Given the description of an element on the screen output the (x, y) to click on. 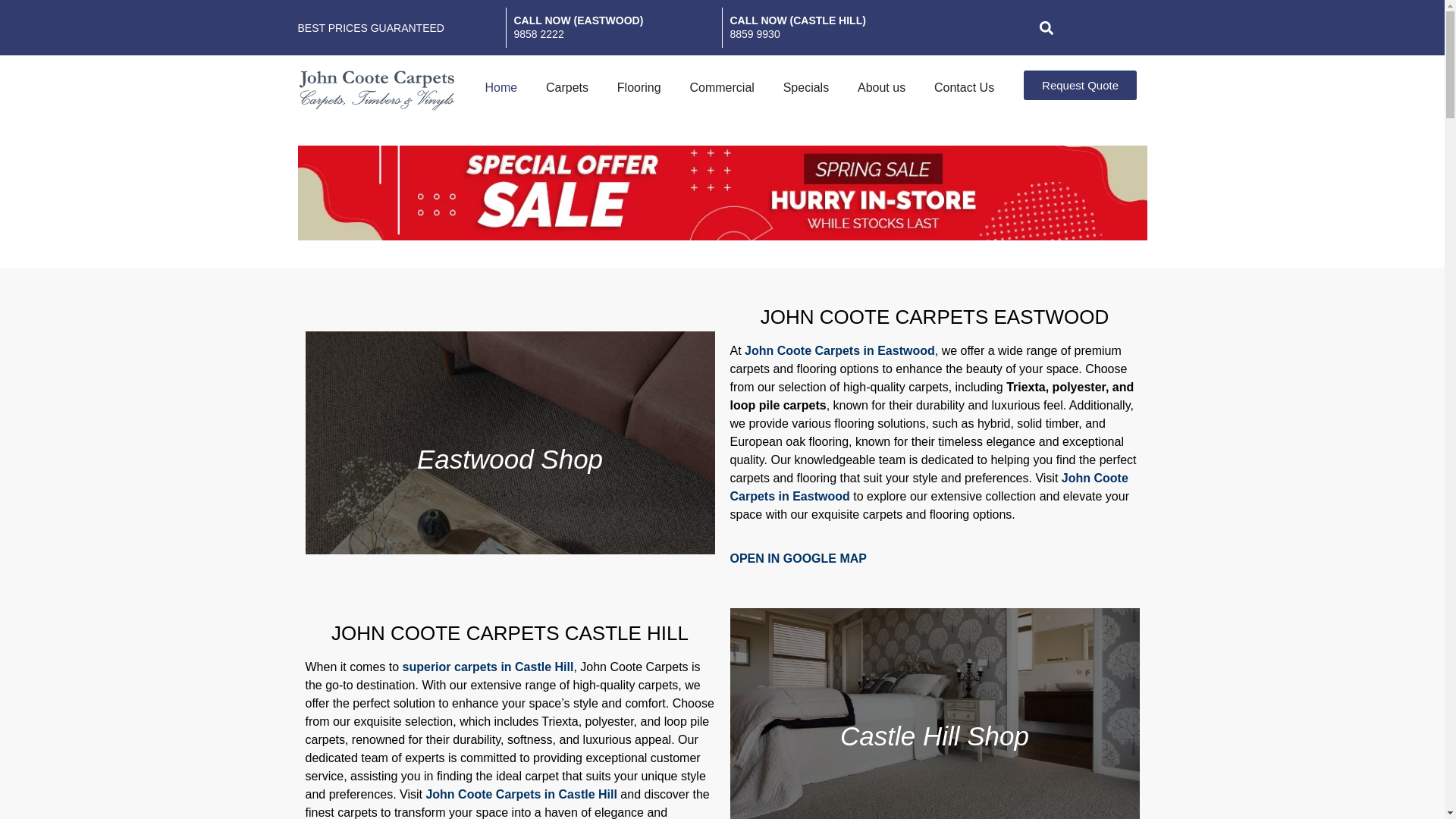
Commercial Element type: text (721, 87)
Eastwood Shop Element type: text (509, 442)
John Coote Carpets in Eastwood Element type: text (839, 350)
Carpets Element type: text (566, 87)
John Coote Carpets in Castle Hill Element type: text (520, 793)
Flooring Element type: text (638, 87)
superior carpets in Castle Hill Element type: text (488, 666)
Request Quote Element type: text (1079, 85)
John Coote Carpets in Eastwood Element type: text (928, 486)
Contact Us Element type: text (963, 87)
OPEN IN GOOGLE MAP Element type: text (797, 558)
Specials Element type: text (805, 87)
loop pile carpets Element type: text (777, 404)
Home Element type: text (500, 87)
About us Element type: text (881, 87)
